Given the description of an element on the screen output the (x, y) to click on. 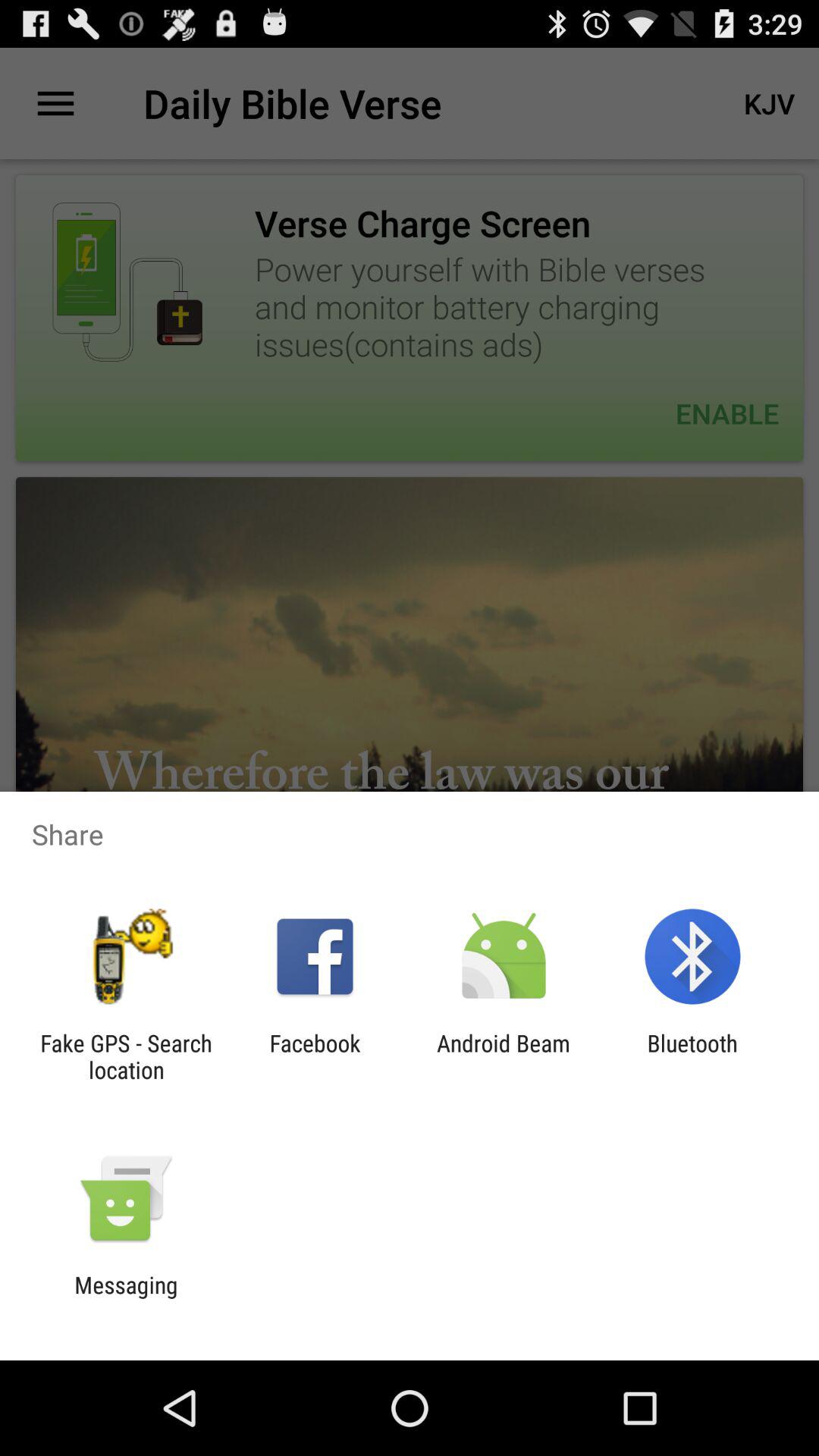
press the android beam icon (503, 1056)
